Given the description of an element on the screen output the (x, y) to click on. 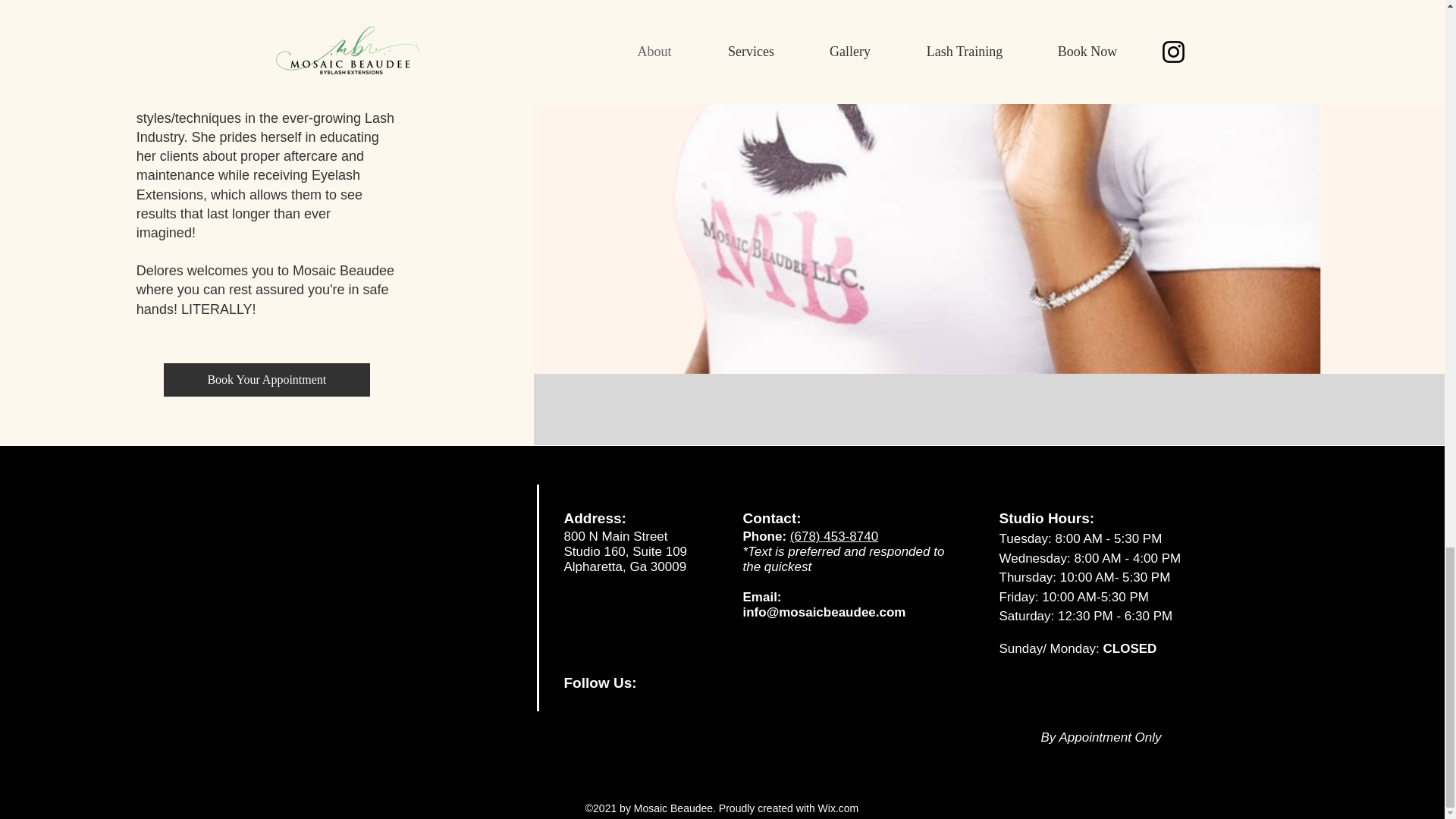
Book Your Appointment (266, 379)
Google Maps (363, 596)
